Given the description of an element on the screen output the (x, y) to click on. 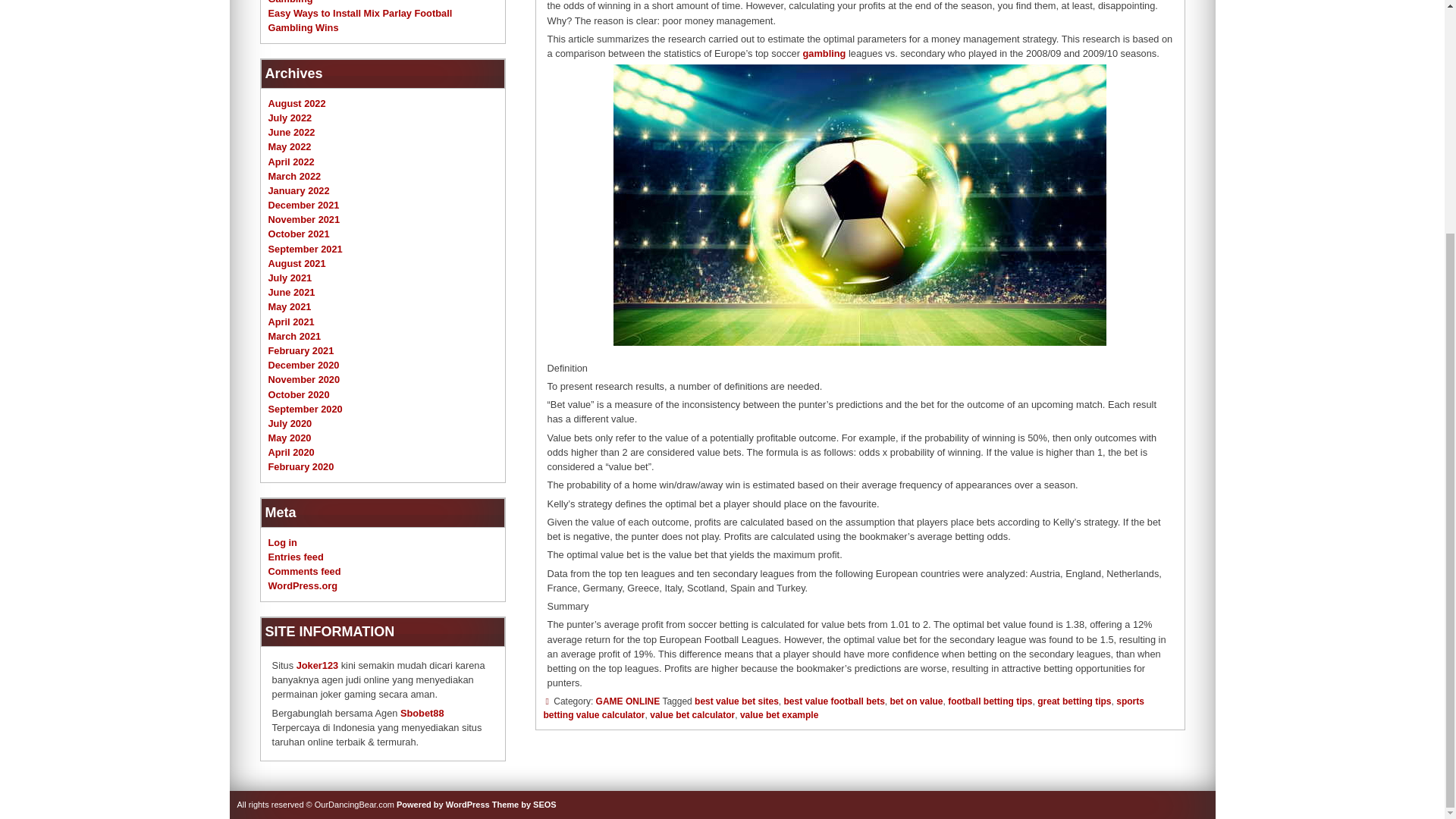
September 2021 (304, 248)
April 2022 (290, 161)
GAME ONLINE (628, 700)
Know the Basics of Winning Online Casino Gambling (367, 2)
Easy Ways to Install Mix Parlay Football Gambling Wins (359, 20)
August 2022 (296, 102)
value bet example (778, 714)
July 2021 (290, 277)
May 2022 (289, 146)
Joker123 (318, 665)
football betting tips (989, 700)
October 2021 (298, 233)
June 2021 (291, 292)
March 2022 (294, 175)
sports betting value calculator (842, 707)
